Given the description of an element on the screen output the (x, y) to click on. 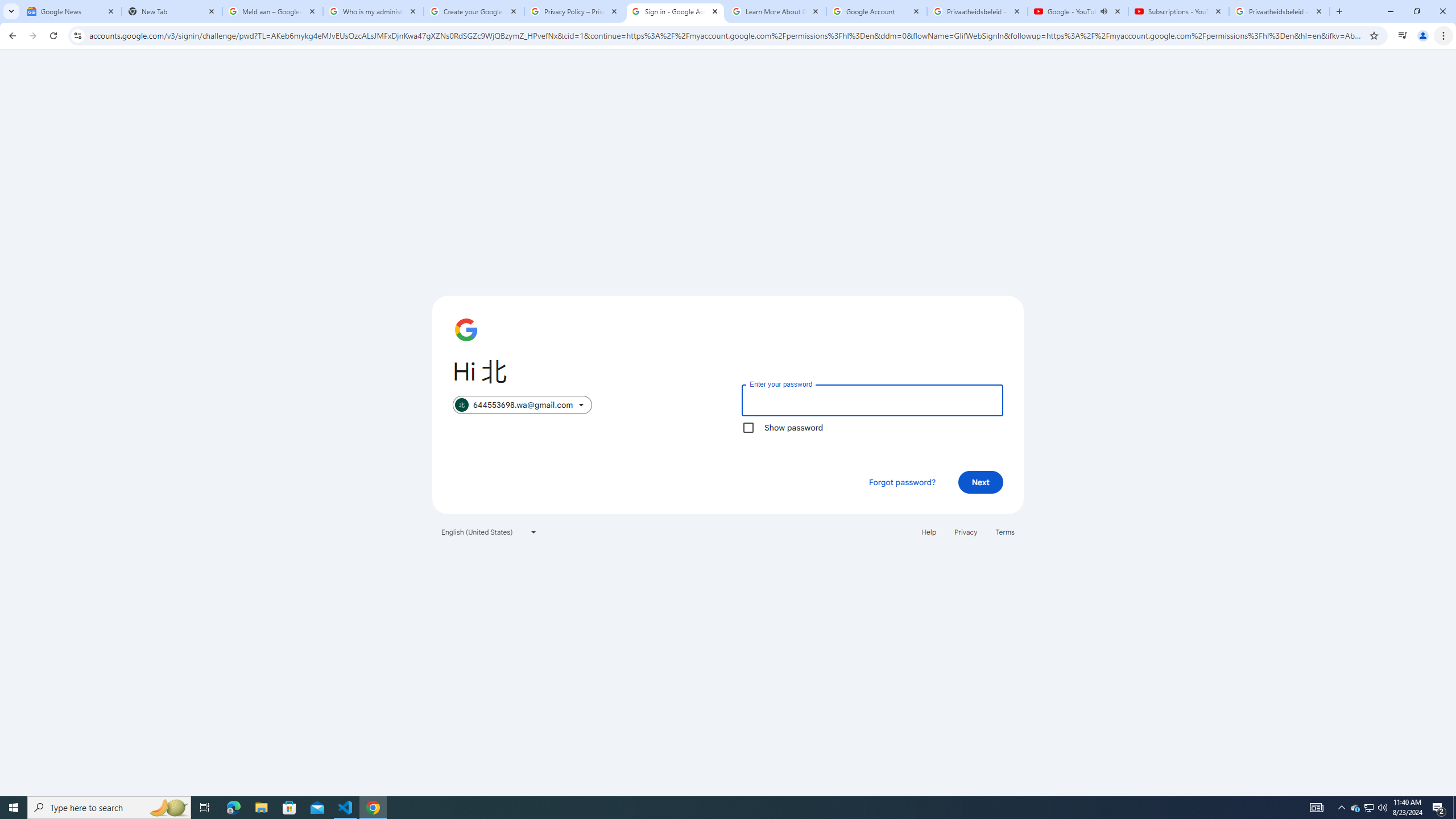
Enter your password (871, 399)
Subscriptions - YouTube (1178, 11)
Forgot password? (901, 481)
Who is my administrator? - Google Account Help (373, 11)
